Given the description of an element on the screen output the (x, y) to click on. 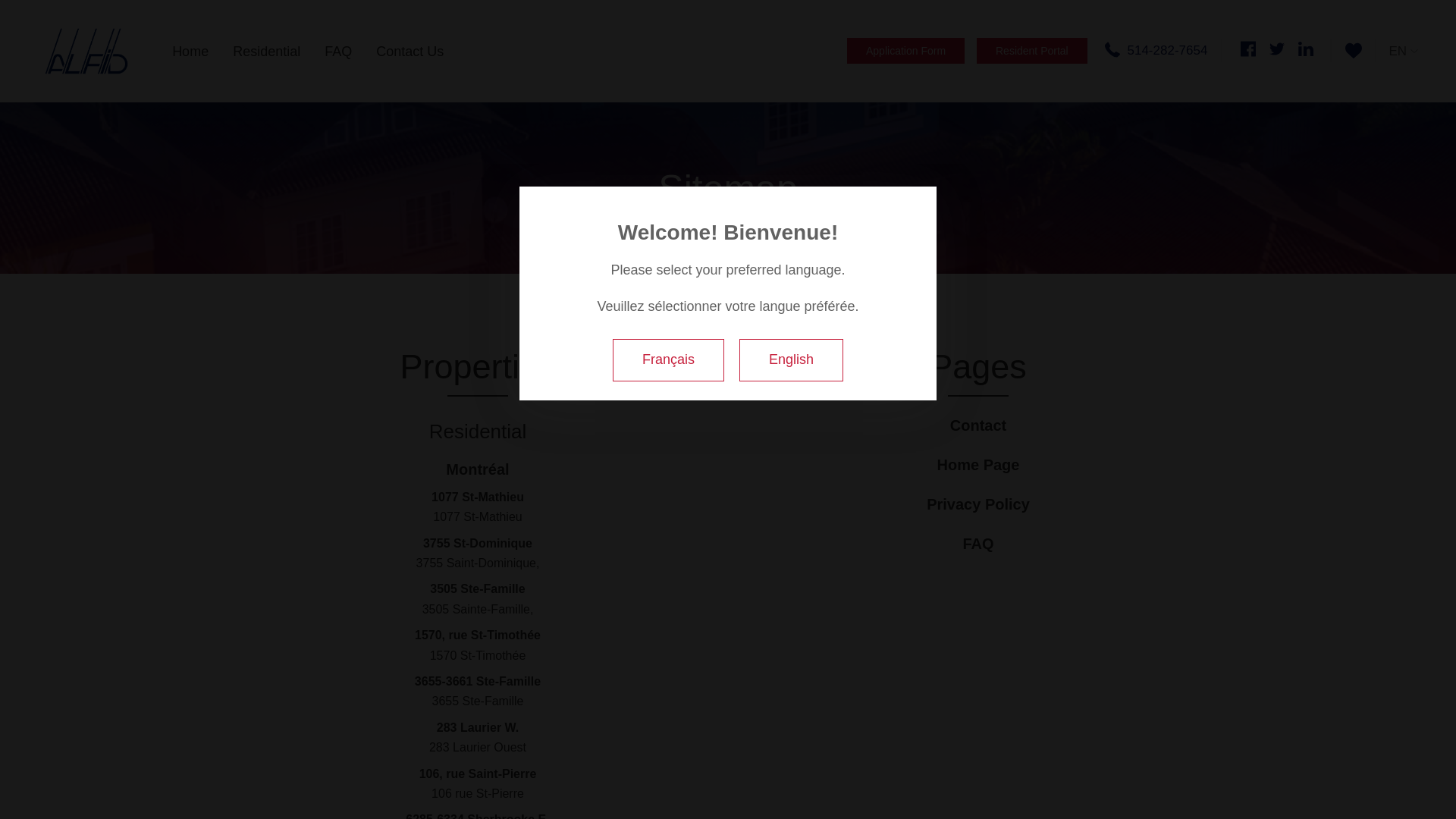
Home Page Element type: text (978, 465)
1077 St-Mathieu
1077 St-Mathieu Element type: text (477, 510)
3655-3661 Ste-Famille
3655 Ste-Famille Element type: text (477, 694)
FAQ Element type: text (338, 51)
Application Form Element type: text (905, 50)
283 Laurier W.
283 Laurier Ouest Element type: text (477, 741)
Twitter Element type: hover (1276, 48)
Home Element type: text (190, 51)
Facebook Element type: hover (1247, 48)
3755 St-Dominique
3755 Saint-Dominique, Element type: text (477, 556)
3505 Ste-Famille
3505 Sainte-Famille, Element type: text (477, 602)
Linkedin Element type: hover (1305, 48)
Contact Element type: text (978, 425)
Contact Us Element type: text (409, 51)
106, rue Saint-Pierre
106 rue St-Pierre Element type: text (477, 787)
Resident Portal Element type: text (1031, 50)
514-282-7654 Element type: text (1155, 50)
Residential Element type: text (478, 431)
Residential Element type: text (266, 51)
Privacy Policy Element type: text (977, 504)
FAQ Element type: text (977, 543)
